Given the description of an element on the screen output the (x, y) to click on. 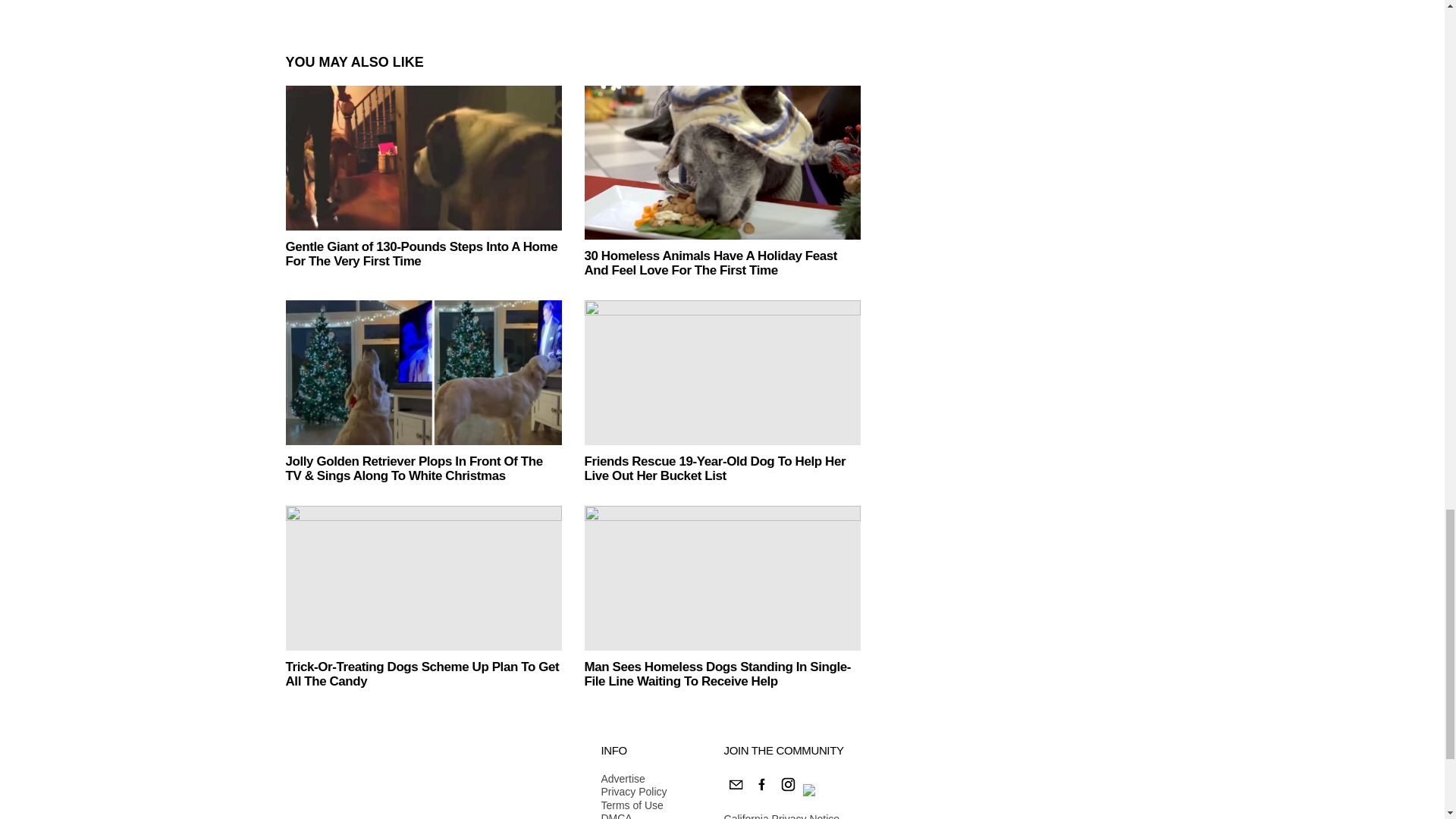
Advertise (632, 779)
California Privacy Notice (781, 816)
Trick-Or-Treating Dogs Scheme Up Plan To Get All The Candy (422, 578)
Terms of Use (632, 806)
